Given the description of an element on the screen output the (x, y) to click on. 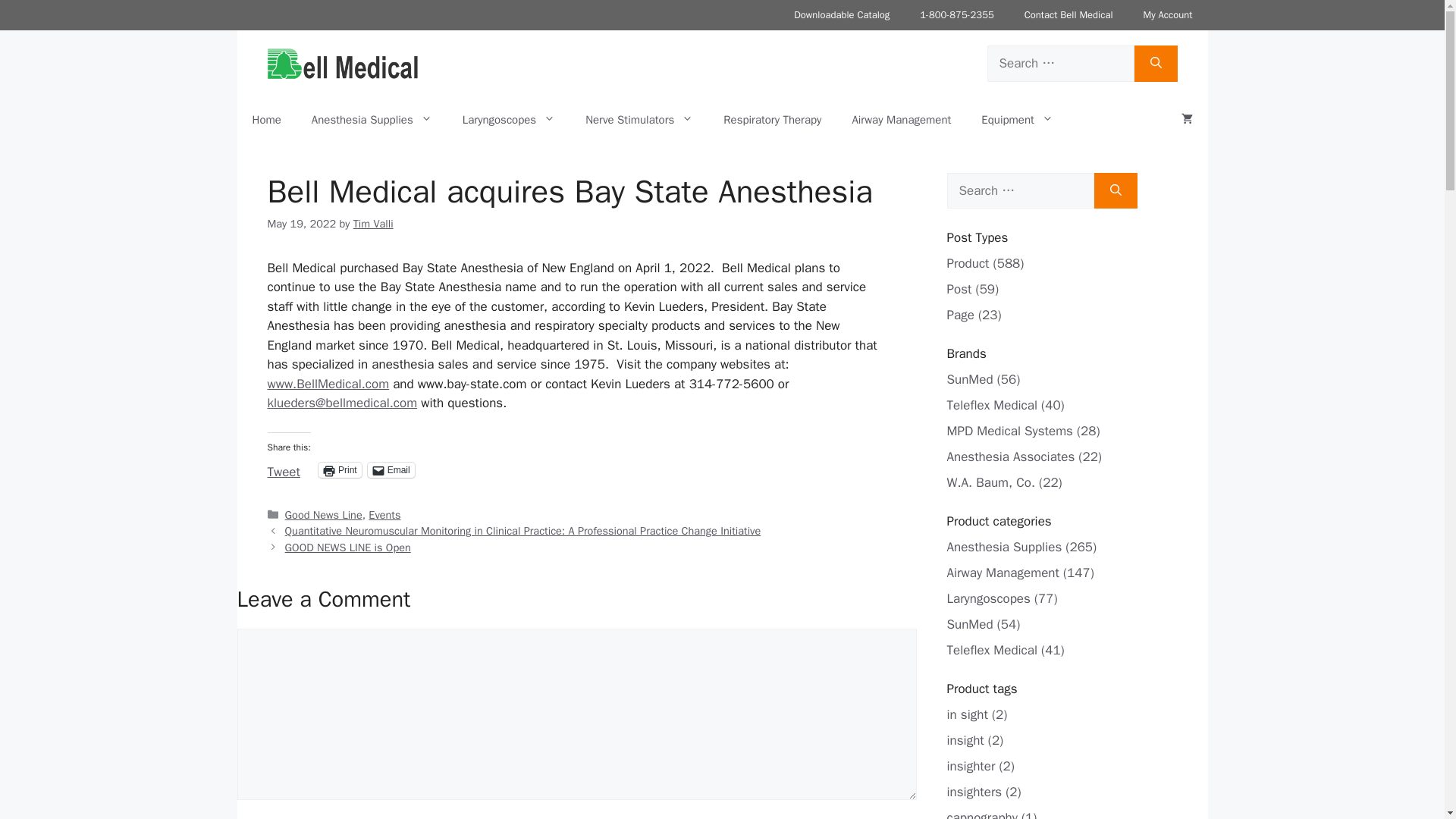
Search for: (1019, 190)
Airway Management (900, 119)
Click to print (339, 469)
Anesthesia Supplies (371, 119)
Contact Bell Medical (1068, 15)
1-800-875-2355 (956, 15)
Laryngoscopes (508, 119)
Respiratory Therapy (771, 119)
Nerve Stimulators (638, 119)
Equipment (1017, 119)
